Given the description of an element on the screen output the (x, y) to click on. 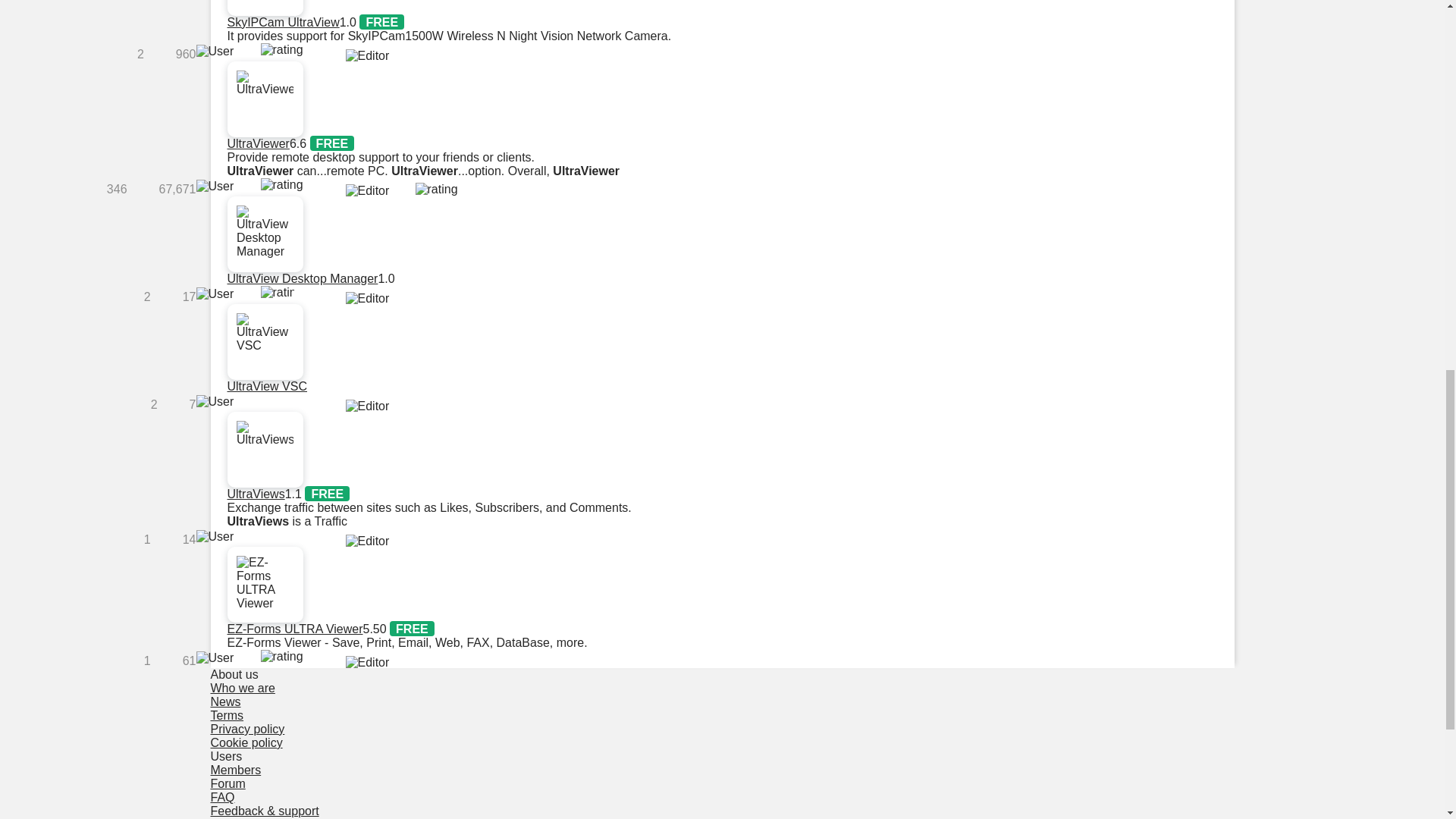
SkyIPCam UltraView (283, 21)
SkyIPCam UltraView (283, 21)
UltraView Desktop Manager (302, 278)
EZ-Forms ULTRA Viewer (294, 628)
UltraViewer (258, 143)
UltraView VSC (267, 386)
UltraView Desktop Manager (302, 278)
UltraViews (256, 493)
UltraView VSC (267, 386)
UltraViewer (258, 143)
